Given the description of an element on the screen output the (x, y) to click on. 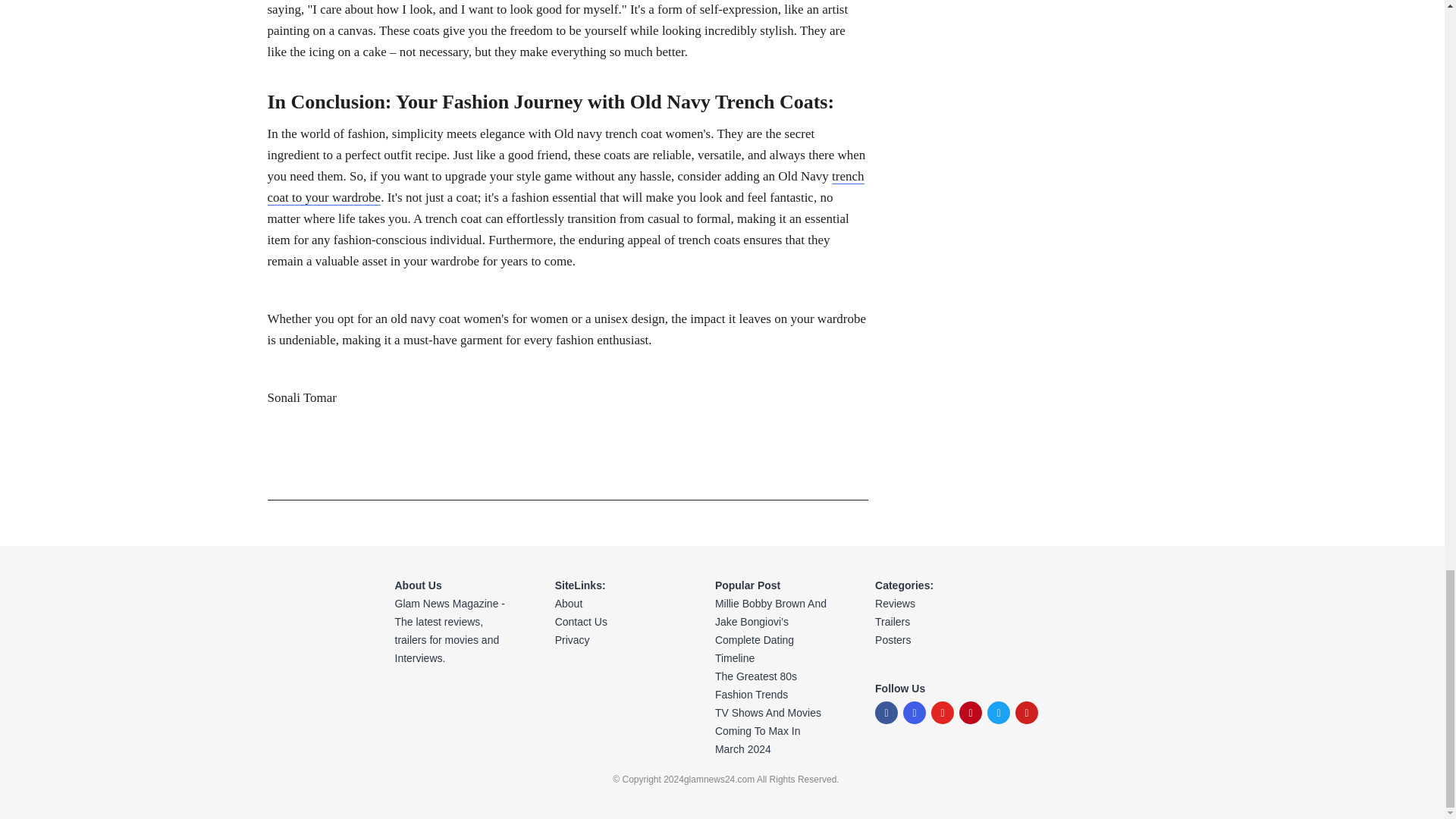
Privacy (610, 639)
TV Shows And Movies Coming To Max In March 2024 (770, 730)
Trailers (895, 621)
About (610, 603)
Reviews (895, 603)
The Greatest 80s Fashion Trends (770, 685)
trench coat to your wardrobe (564, 186)
Posters (895, 639)
Contact Us (610, 621)
